Given the description of an element on the screen output the (x, y) to click on. 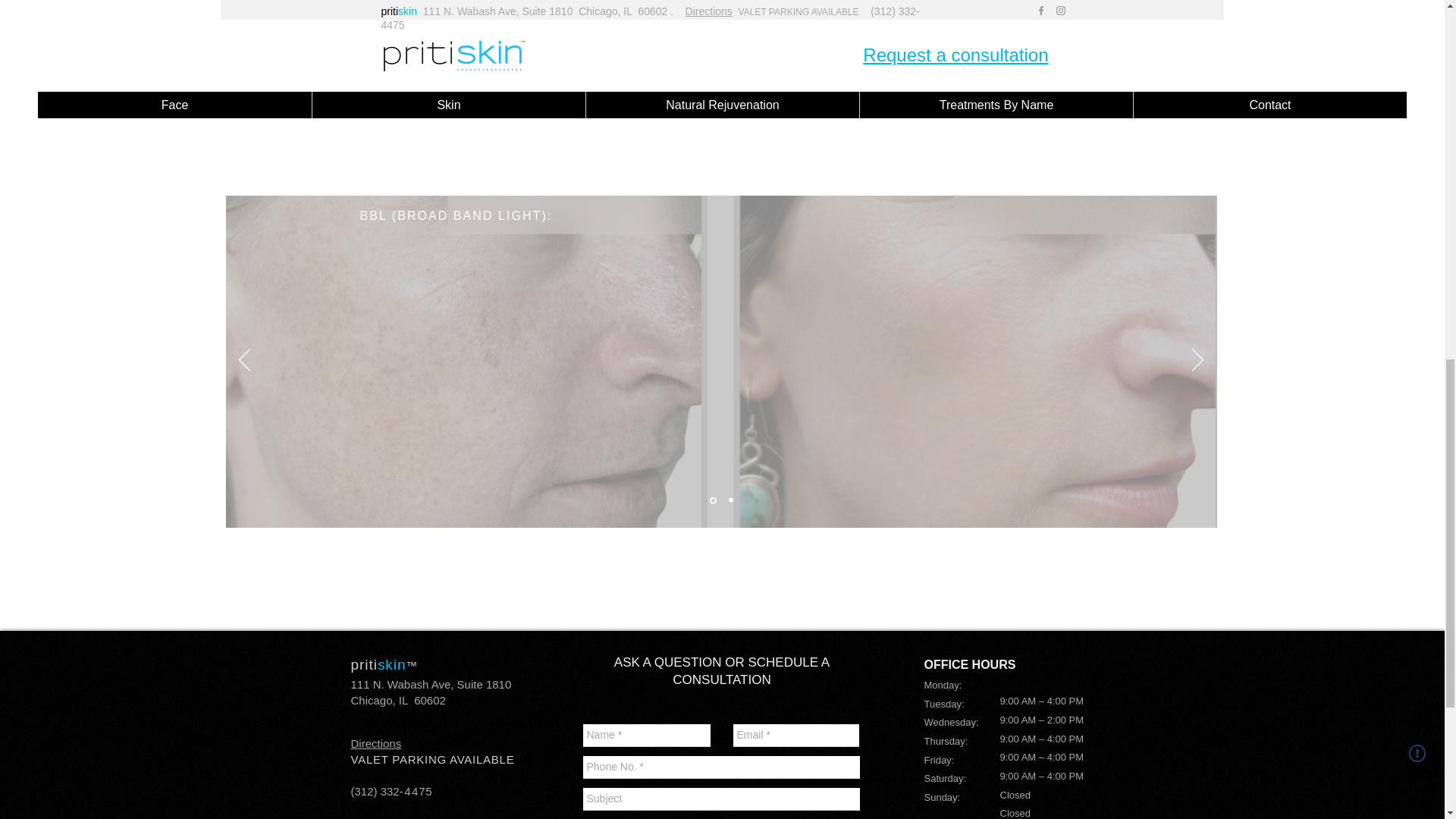
External YouTube (581, 77)
